Given the description of an element on the screen output the (x, y) to click on. 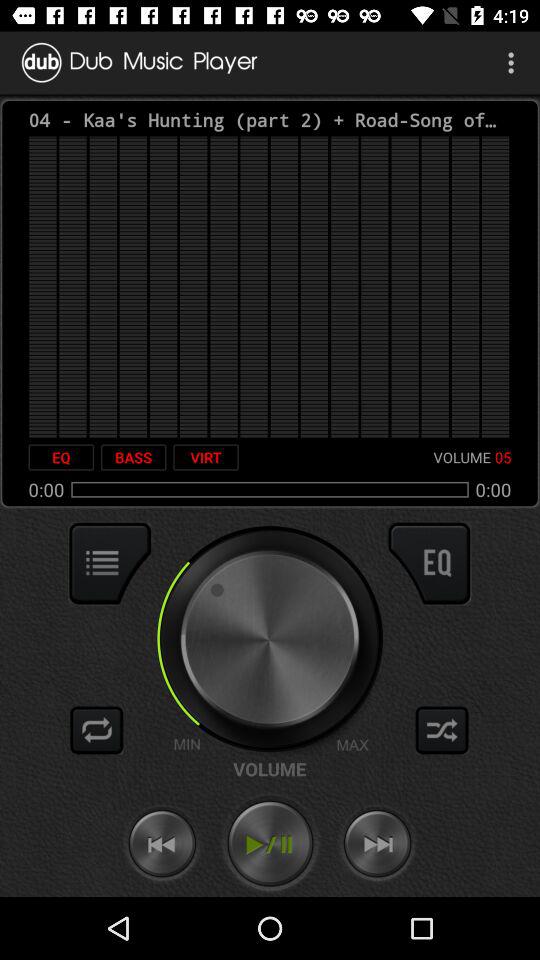
share (442, 730)
